Given the description of an element on the screen output the (x, y) to click on. 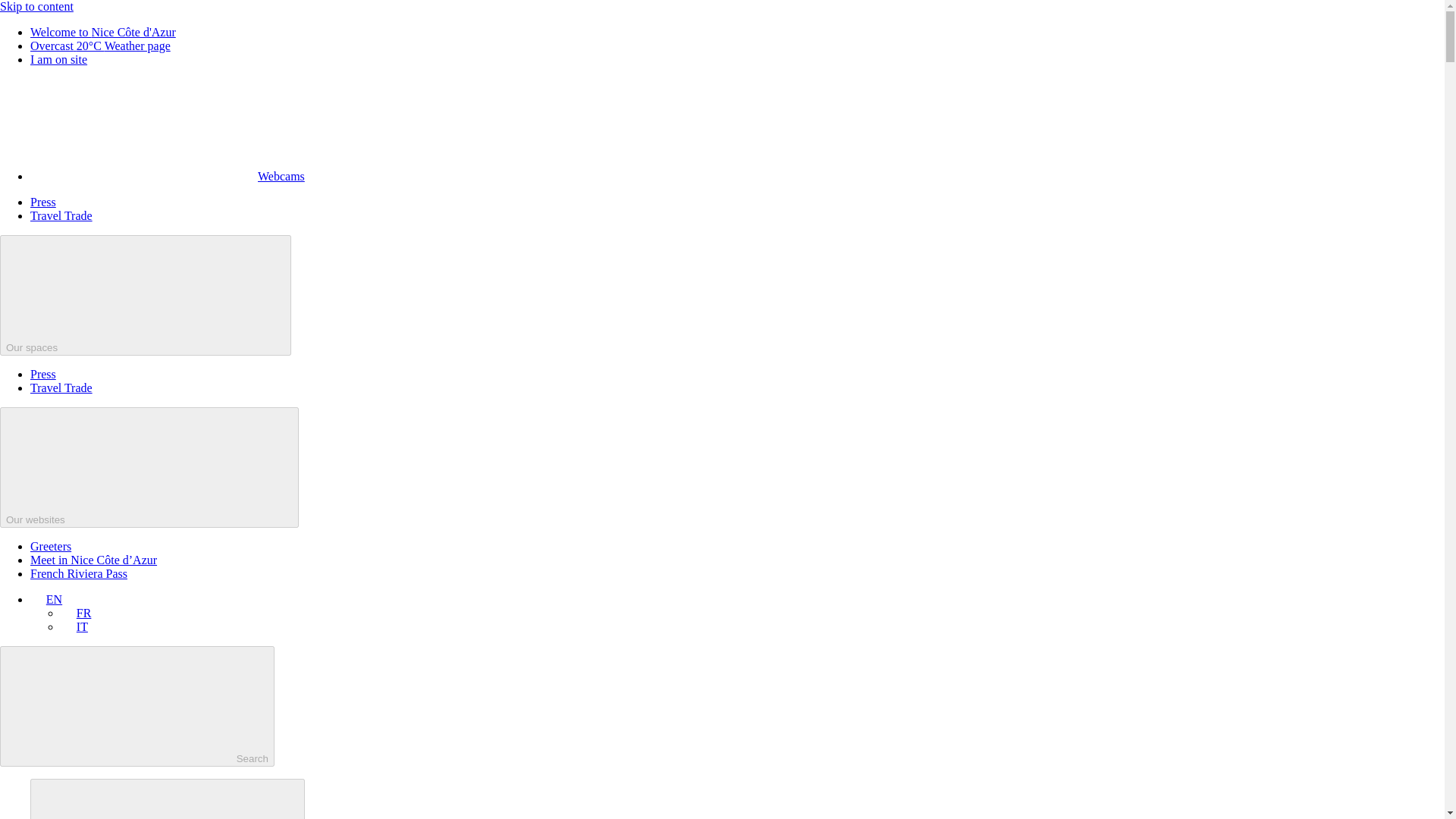
EN (46, 599)
Our websites (149, 467)
Press (43, 201)
Search (137, 706)
Press (43, 373)
IT (74, 626)
FR (75, 612)
Greeters (50, 545)
Travel Trade (61, 215)
Skip to content (37, 6)
Search (167, 798)
French Riviera Pass (79, 573)
Our spaces (145, 295)
Webcams (167, 175)
Travel Trade (61, 387)
